Given the description of an element on the screen output the (x, y) to click on. 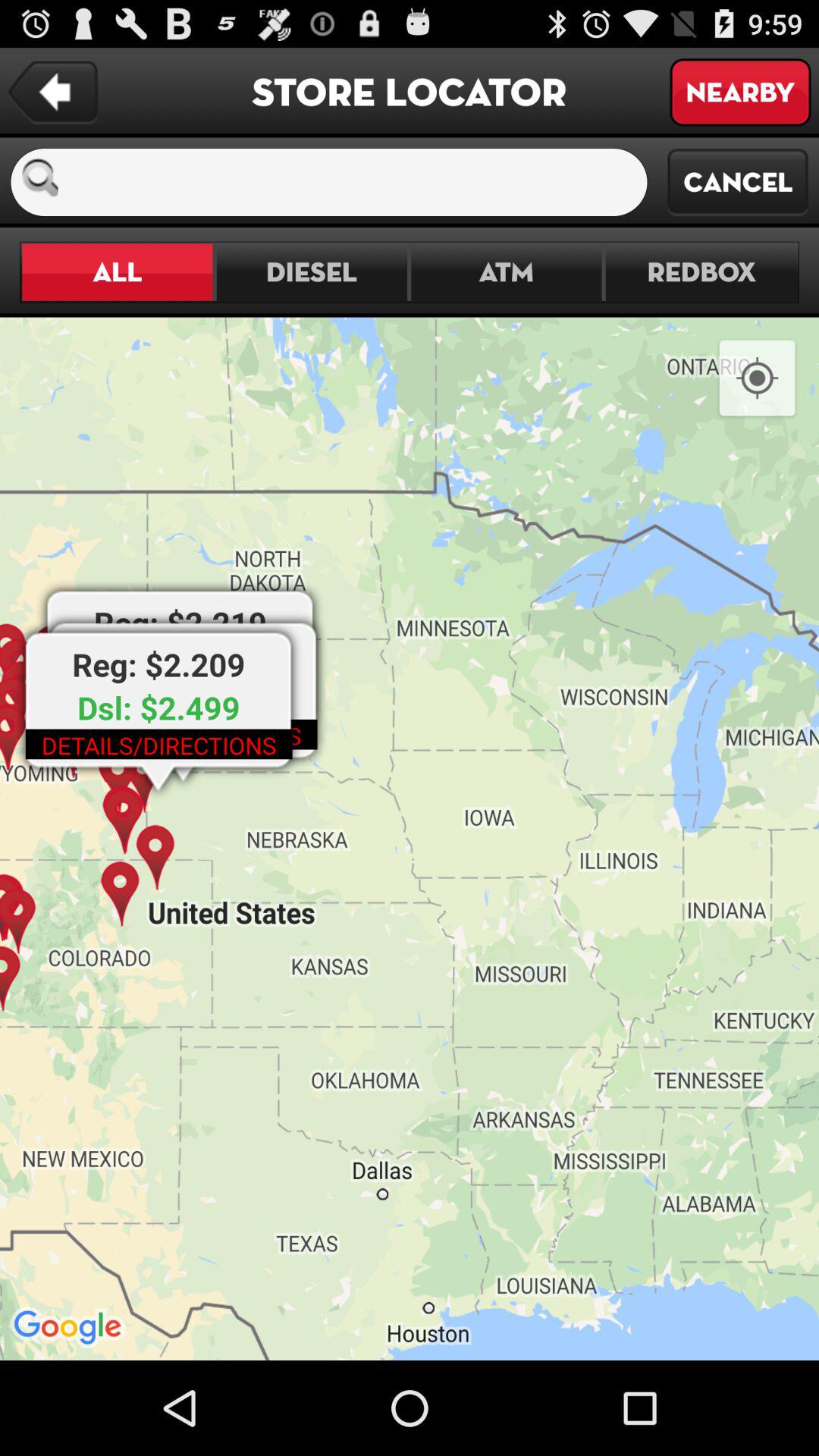
choose icon to the right of store locator icon (740, 92)
